Given the description of an element on the screen output the (x, y) to click on. 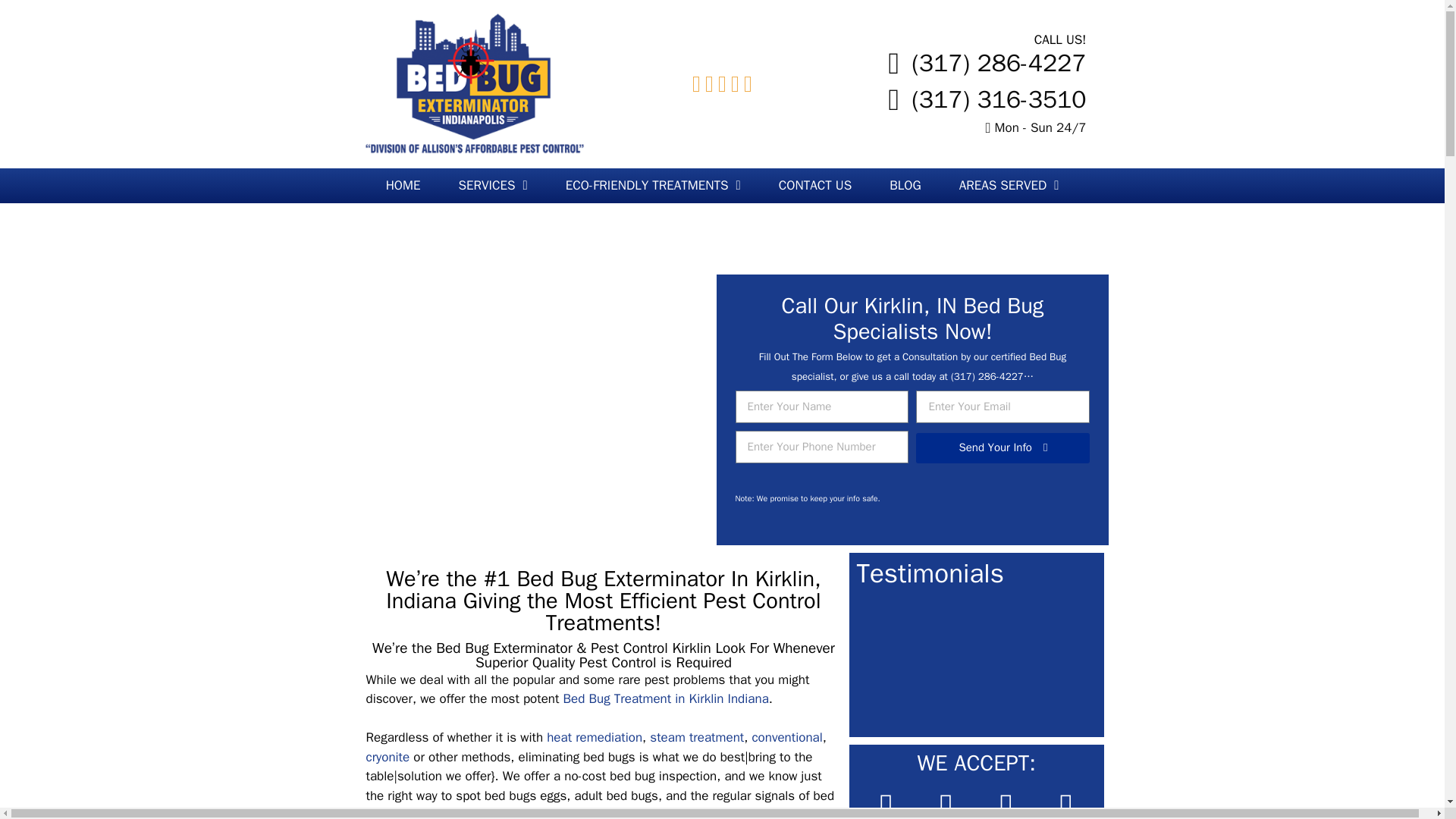
BLOG (904, 185)
ECO-FRIENDLY TREATMENTS (653, 185)
CONTACT US (815, 185)
HOME (402, 185)
AREAS SERVED (1009, 185)
SERVICES (493, 185)
